Given the description of an element on the screen output the (x, y) to click on. 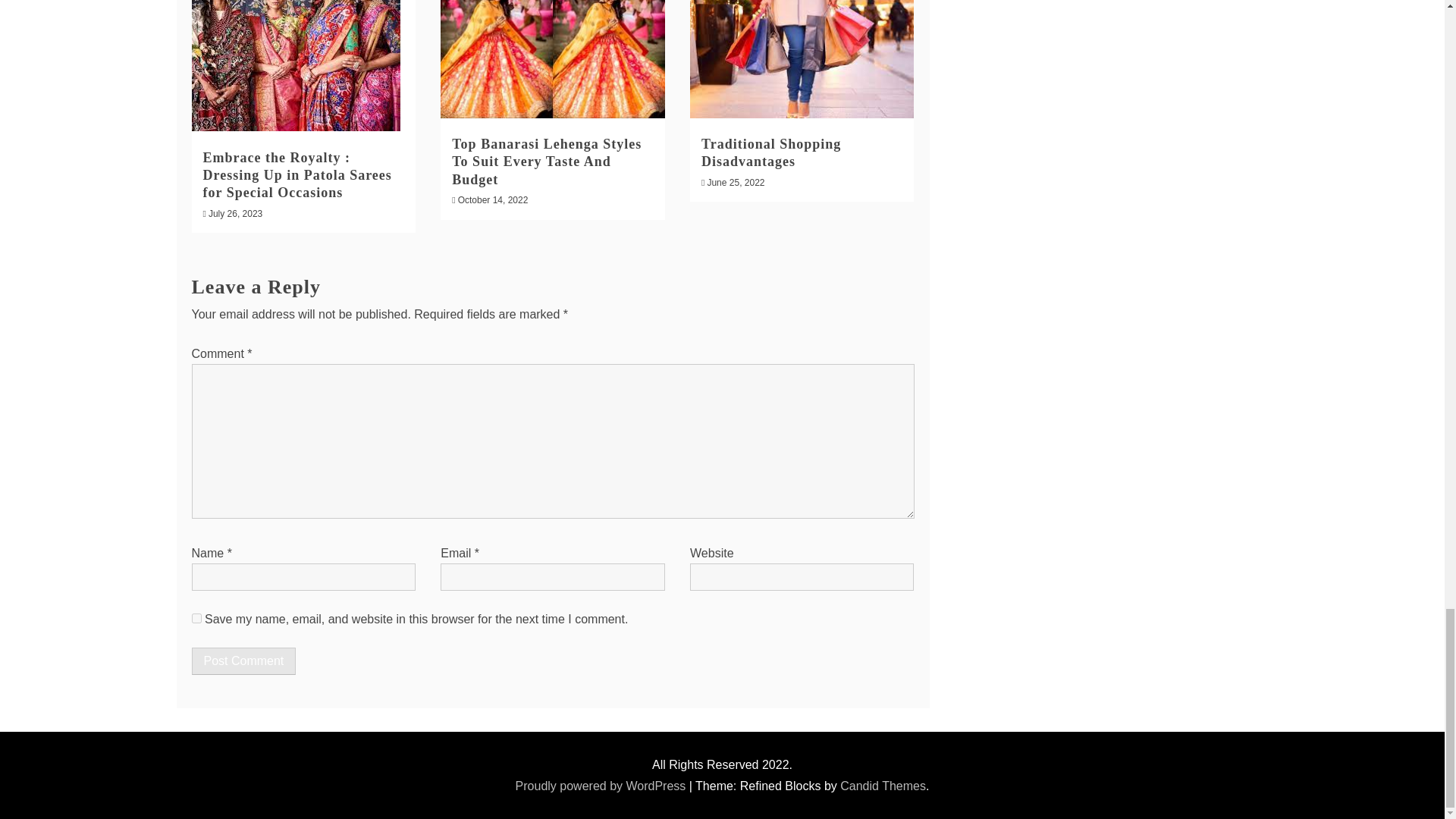
Post Comment (242, 660)
yes (195, 618)
